Given the description of an element on the screen output the (x, y) to click on. 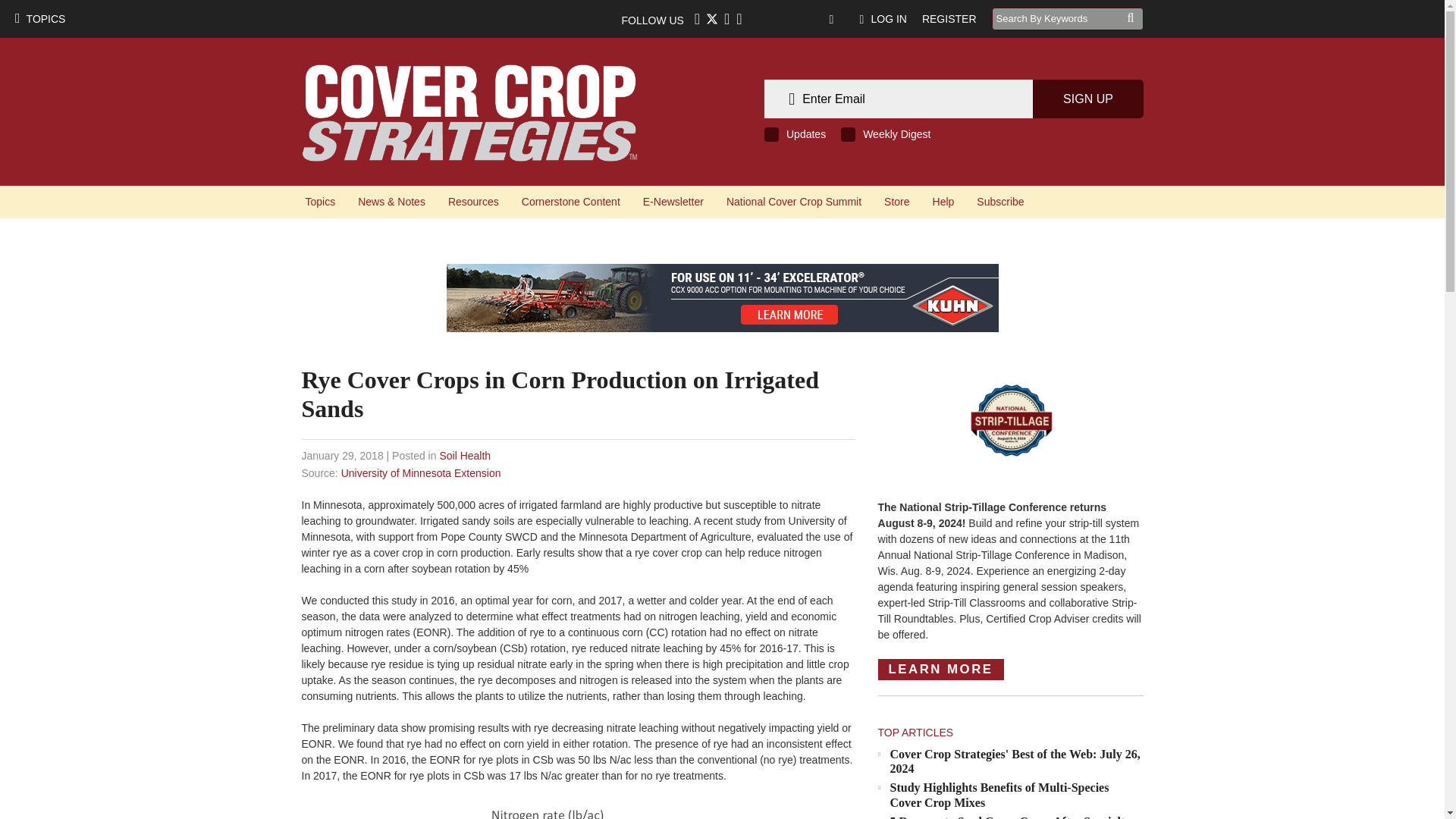
SIGN UP (1087, 98)
Cover Crop Strategies' Best of the Web: July 26, 2024 (1014, 760)
Kuhn Krause Inc. (721, 297)
Topics (320, 201)
Search By Keywords (1058, 18)
Resources (473, 201)
REGISTER (949, 18)
TOPICS (39, 18)
Search By Keywords (1058, 18)
5 Reasons to Seed Cover Crops After Specialty Crops (1010, 816)
LOG IN (882, 18)
Study Highlights Benefits of Multi-Species Cover Crop Mixes (999, 794)
